Given the description of an element on the screen output the (x, y) to click on. 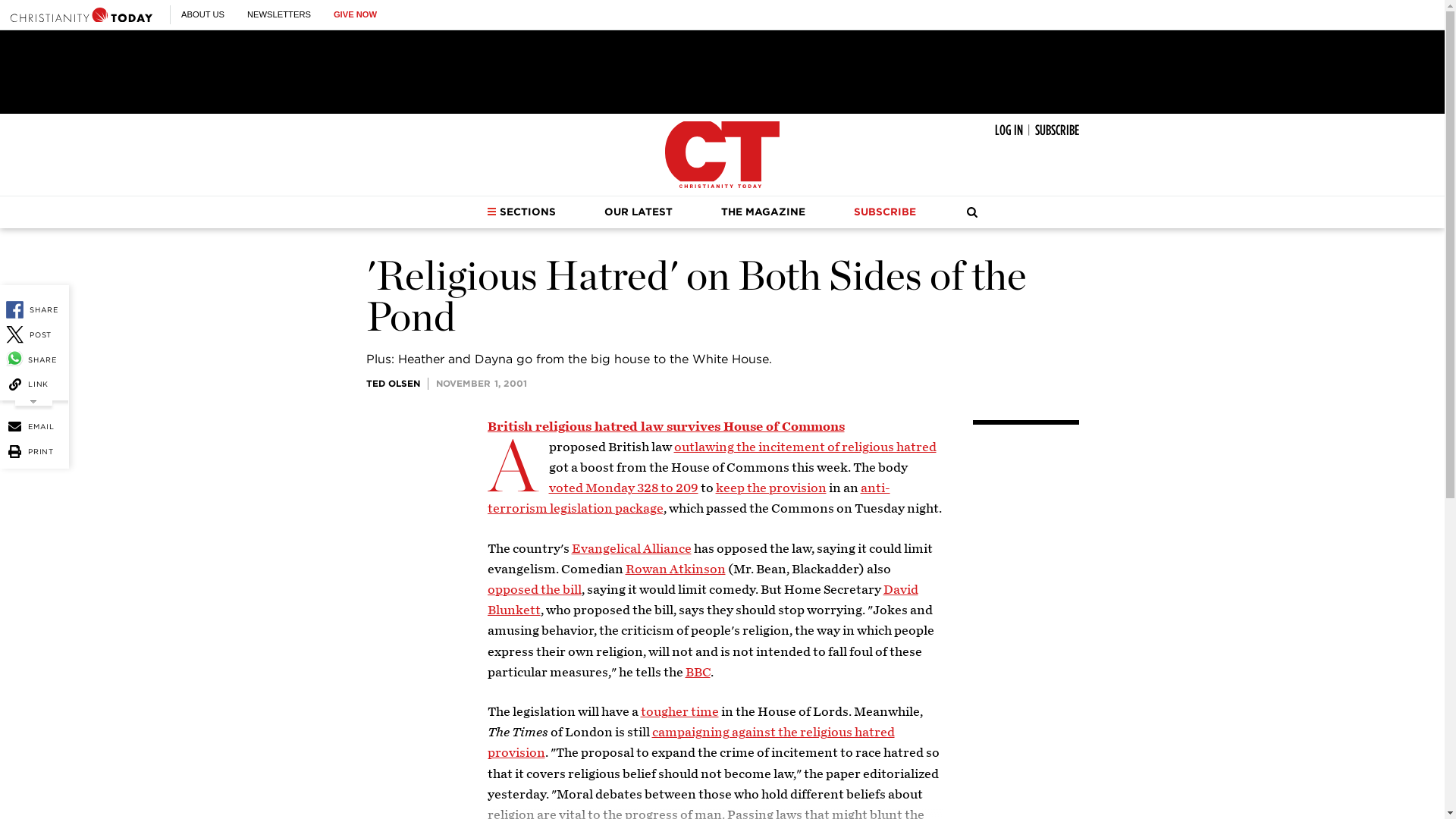
SECTIONS (521, 212)
NEWSLETTERS (278, 14)
3rd party ad content (721, 71)
ABOUT US (202, 14)
GIVE NOW (355, 14)
Christianity Today (721, 154)
Sections Dropdown (491, 211)
LOG IN (1008, 130)
SUBSCRIBE (1055, 130)
Christianity Today (81, 14)
